Given the description of an element on the screen output the (x, y) to click on. 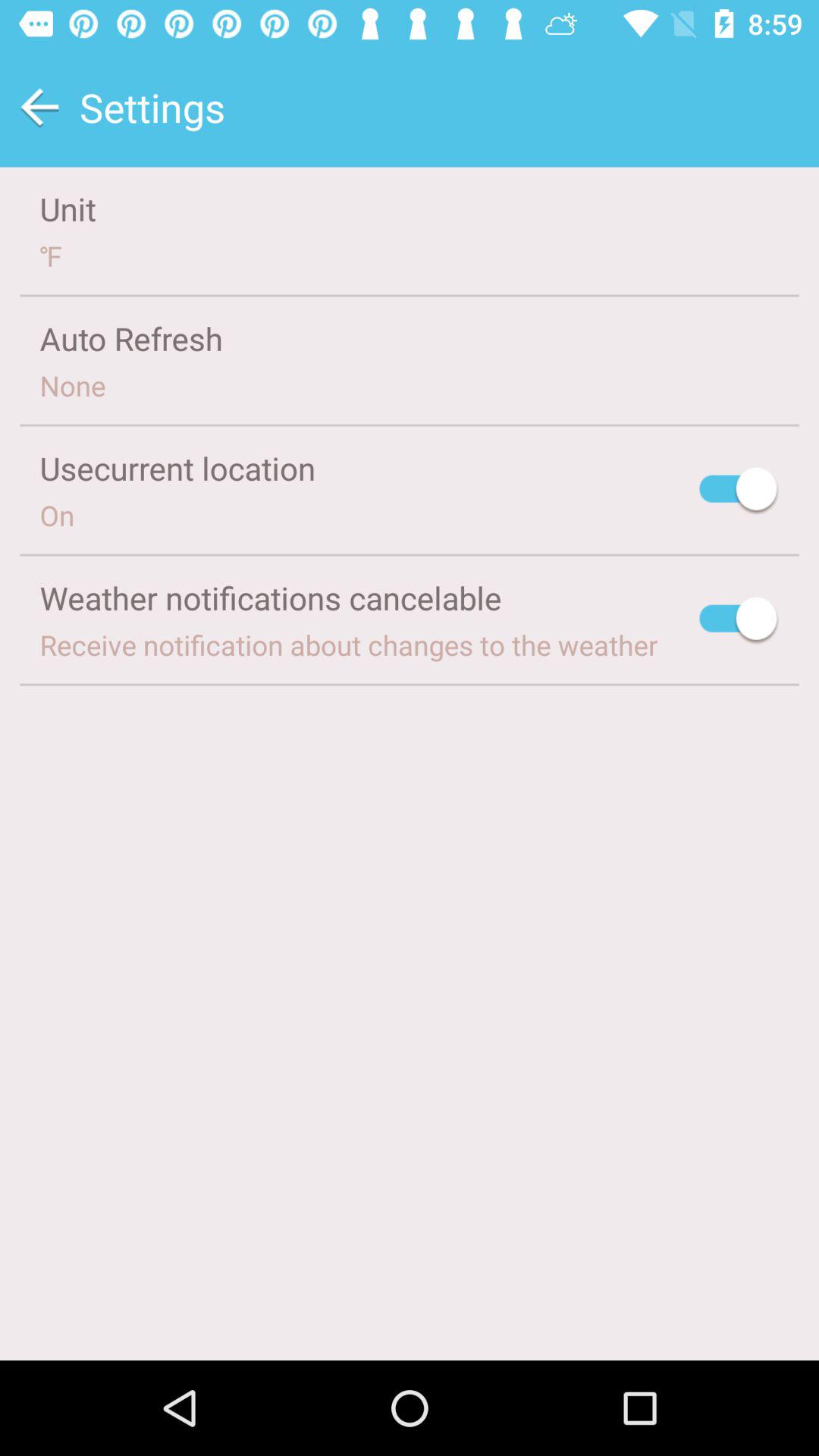
go to previous screen (39, 107)
